Given the description of an element on the screen output the (x, y) to click on. 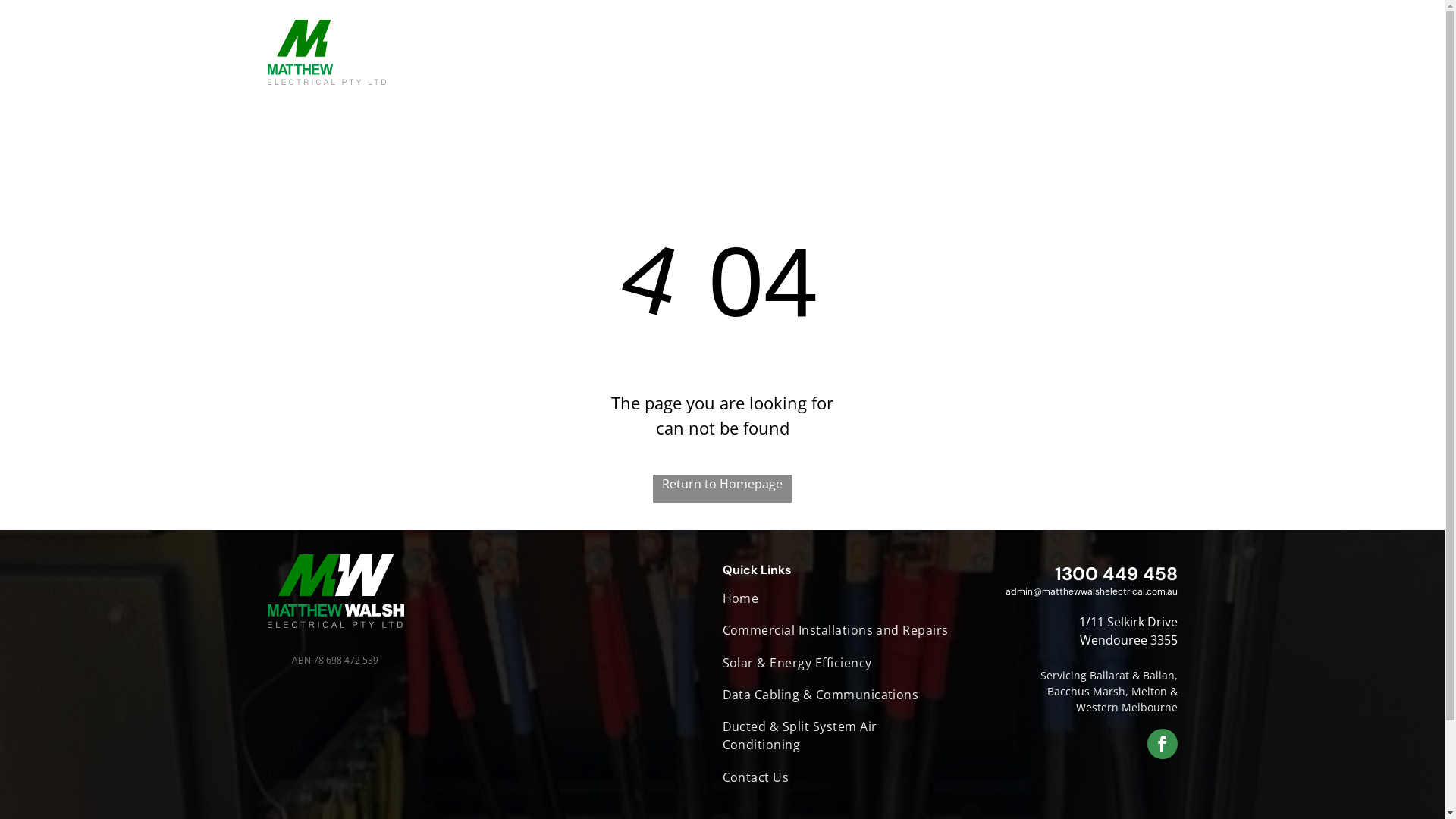
Projects Element type: text (1059, 42)
1300 449 458 Element type: text (1115, 573)
admin@matthewwalshelectrical.com.au Element type: text (1091, 591)
Back to home Element type: hover (326, 51)
Contact Us Element type: text (835, 780)
Ducted & Split System Air Conditioning Element type: text (835, 738)
Solar & Energy Efficiency Element type: text (835, 665)
Home Element type: text (855, 42)
Commercial Installations and Repairs Element type: text (835, 633)
Electrical Services Element type: text (953, 42)
Return to Homepage Element type: text (721, 488)
Contact Us Element type: text (1135, 42)
Data Cabling & Communications Element type: text (835, 697)
Home Element type: text (835, 601)
Back to home page Element type: hover (334, 591)
